Given the description of an element on the screen output the (x, y) to click on. 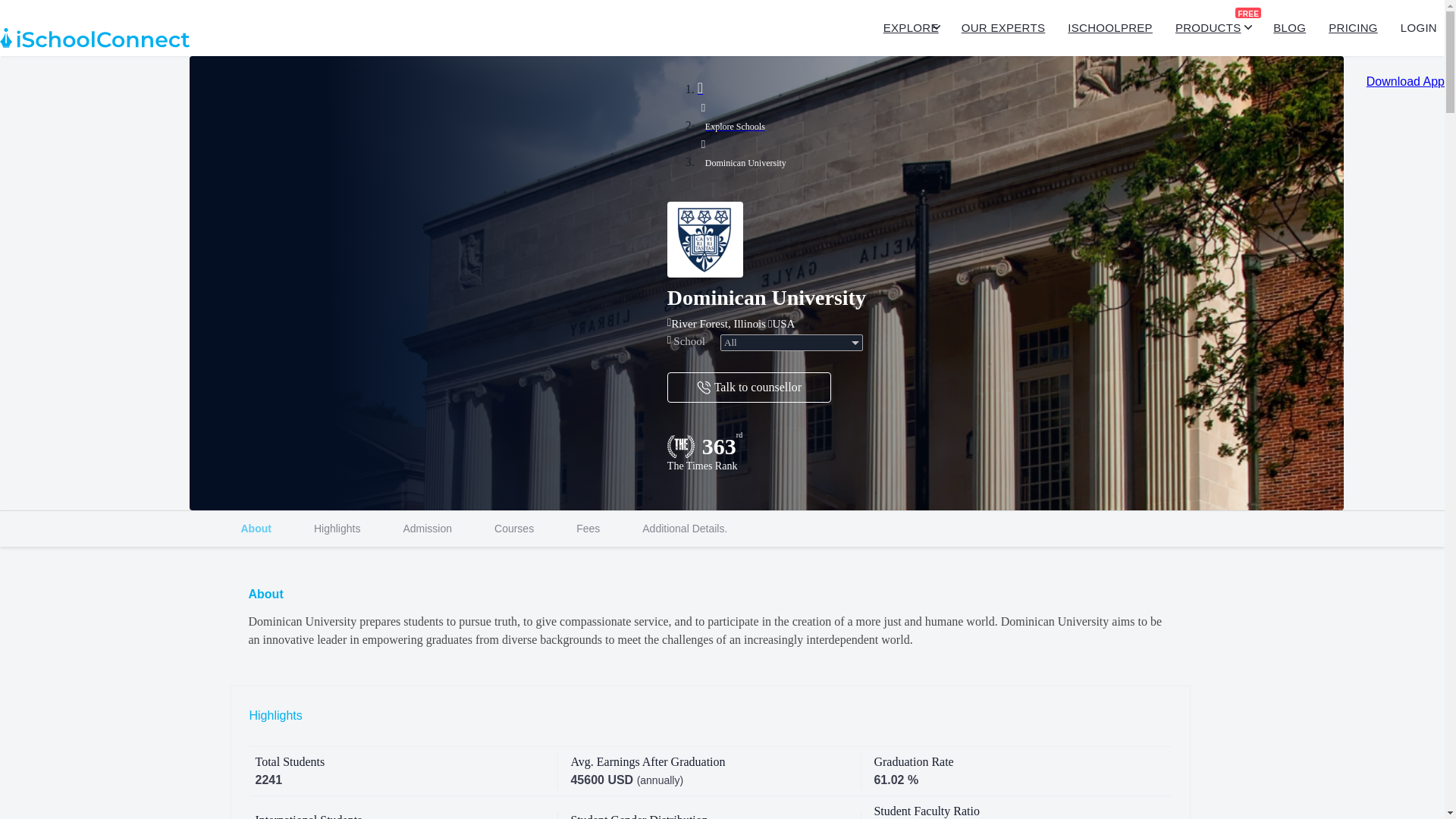
iSchoolConnect (94, 38)
EXPLORE (722, 528)
